Given the description of an element on the screen output the (x, y) to click on. 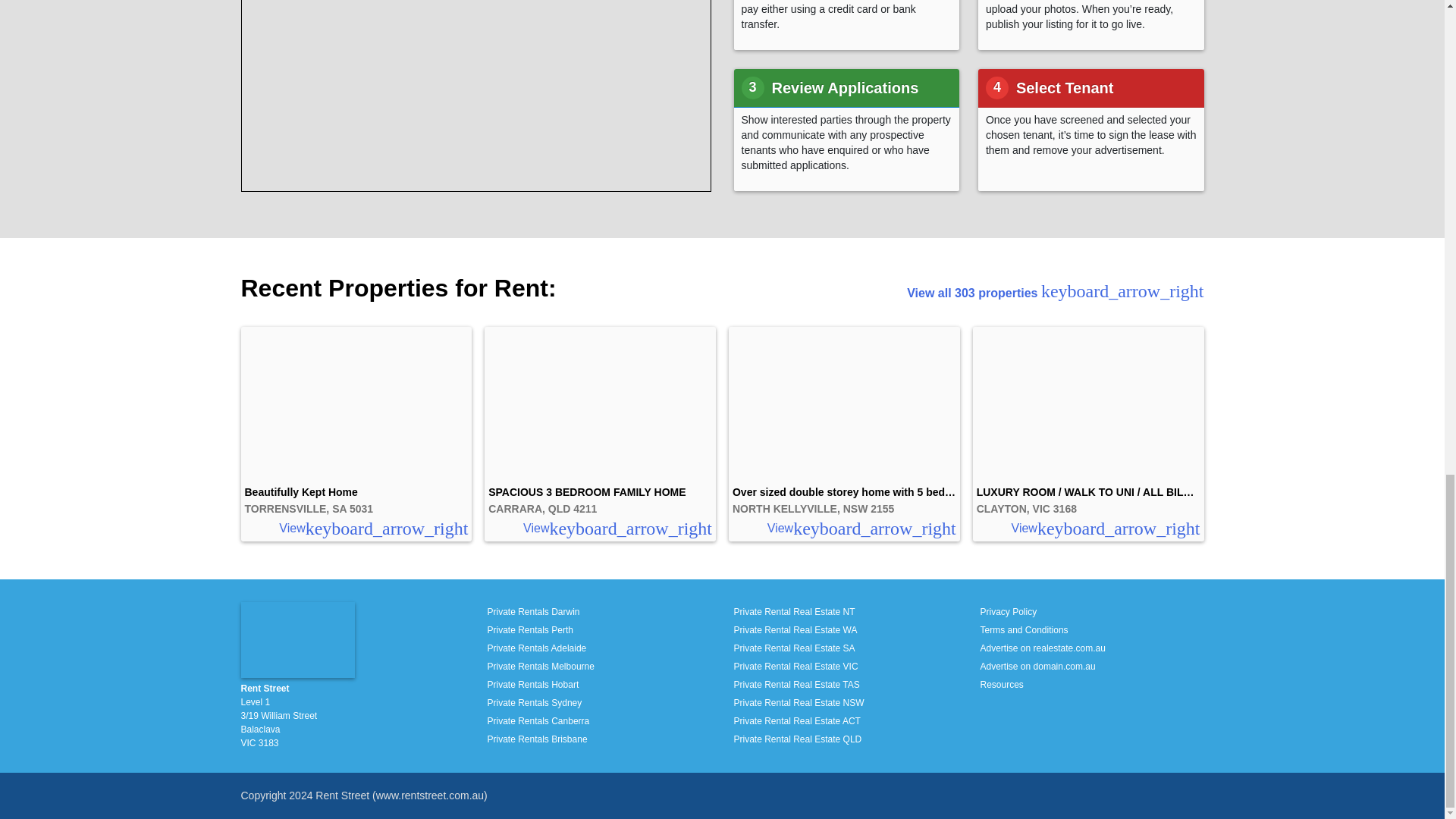
Private Rentals Adelaide (536, 647)
Private Rentals Darwin (532, 611)
Private Rentals Perth (529, 629)
